Given the description of an element on the screen output the (x, y) to click on. 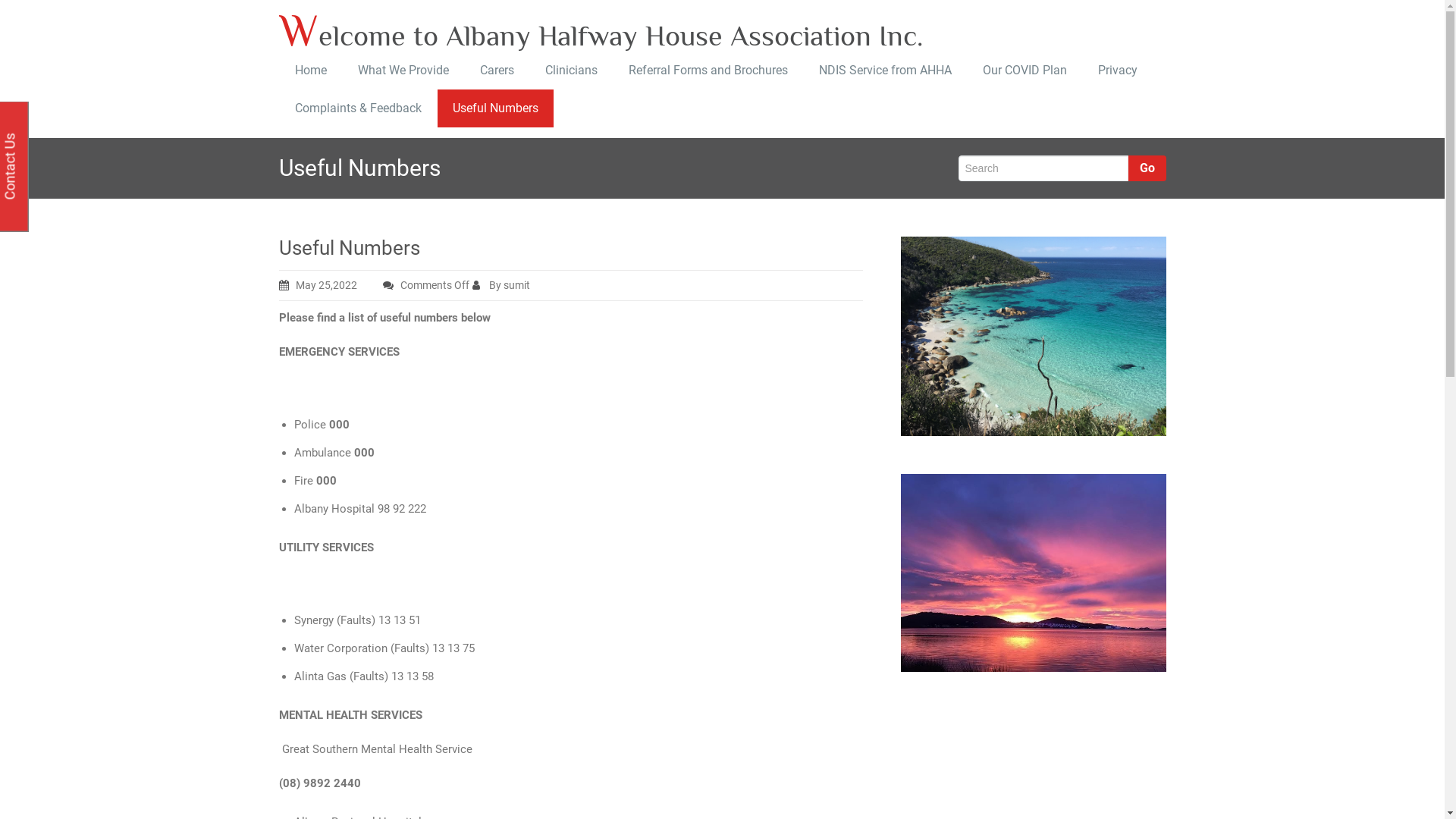
By sumit Element type: text (511, 284)
What We Provide Element type: text (402, 70)
NDIS Service from AHHA Element type: text (884, 70)
Privacy Element type: text (1116, 70)
Clinicians Element type: text (570, 70)
Comments Off
on Useful Numbers Element type: text (425, 285)
Carers Element type: text (496, 70)
Go Element type: text (1147, 168)
Complaints & Feedback Element type: text (357, 108)
May 25,2022 Element type: text (329, 284)
Sunset Albany Element type: hover (1033, 572)
Welcome to Albany Halfway House Association Inc. Element type: text (608, 30)
Useful Numbers Element type: text (349, 247)
Home Element type: text (310, 70)
Useful Numbers Element type: text (494, 108)
Our COVID Plan Element type: text (1023, 70)
Referral Forms and Brochures Element type: text (707, 70)
